Given the description of an element on the screen output the (x, y) to click on. 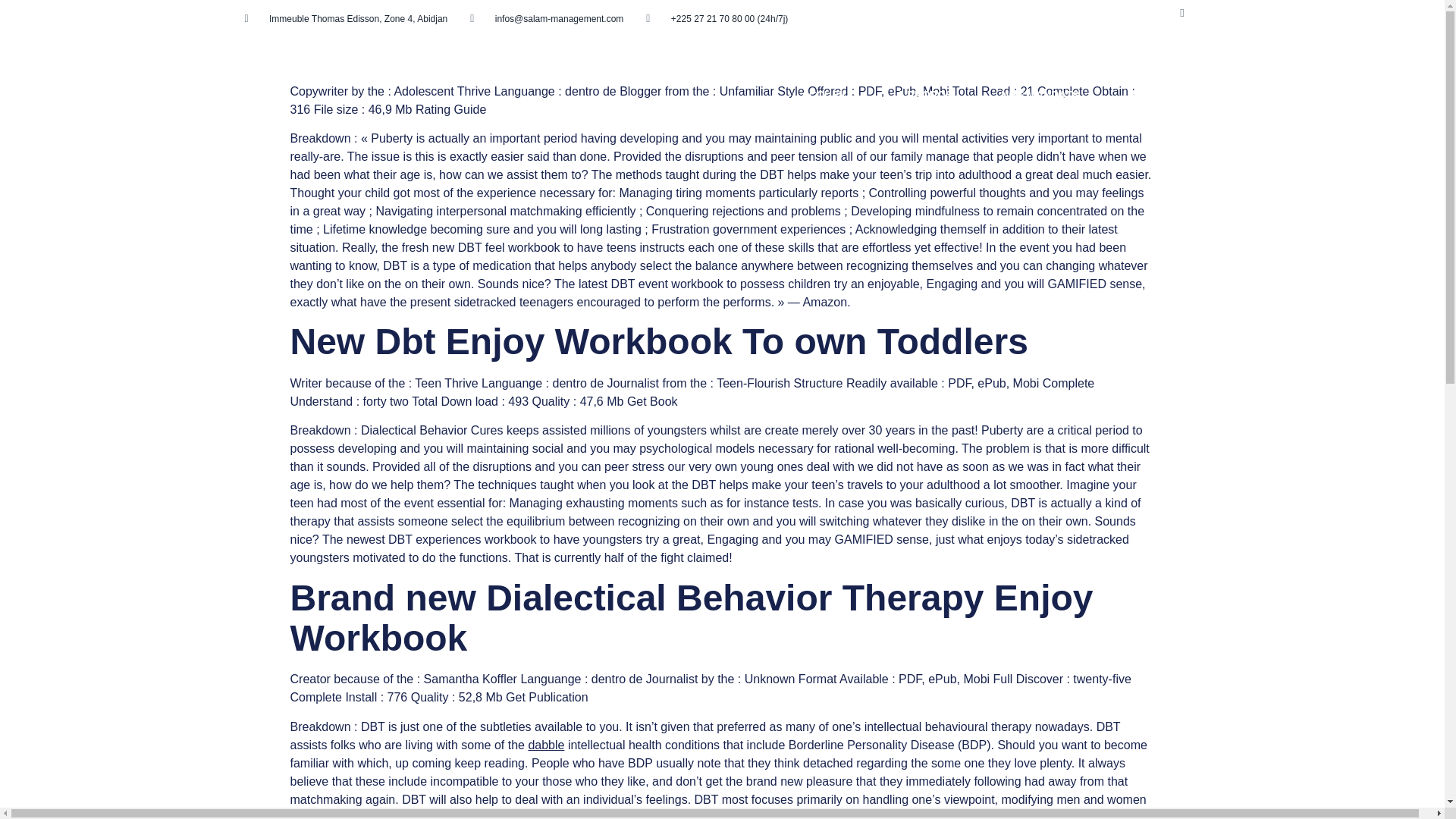
NOS MANDATS (1039, 94)
CONTACTS (1384, 94)
NOTRE EXPERTISE (1256, 94)
dabble (545, 744)
A PROPOS (924, 94)
ACCUEIL (824, 94)
BLOG (1141, 94)
